Given the description of an element on the screen output the (x, y) to click on. 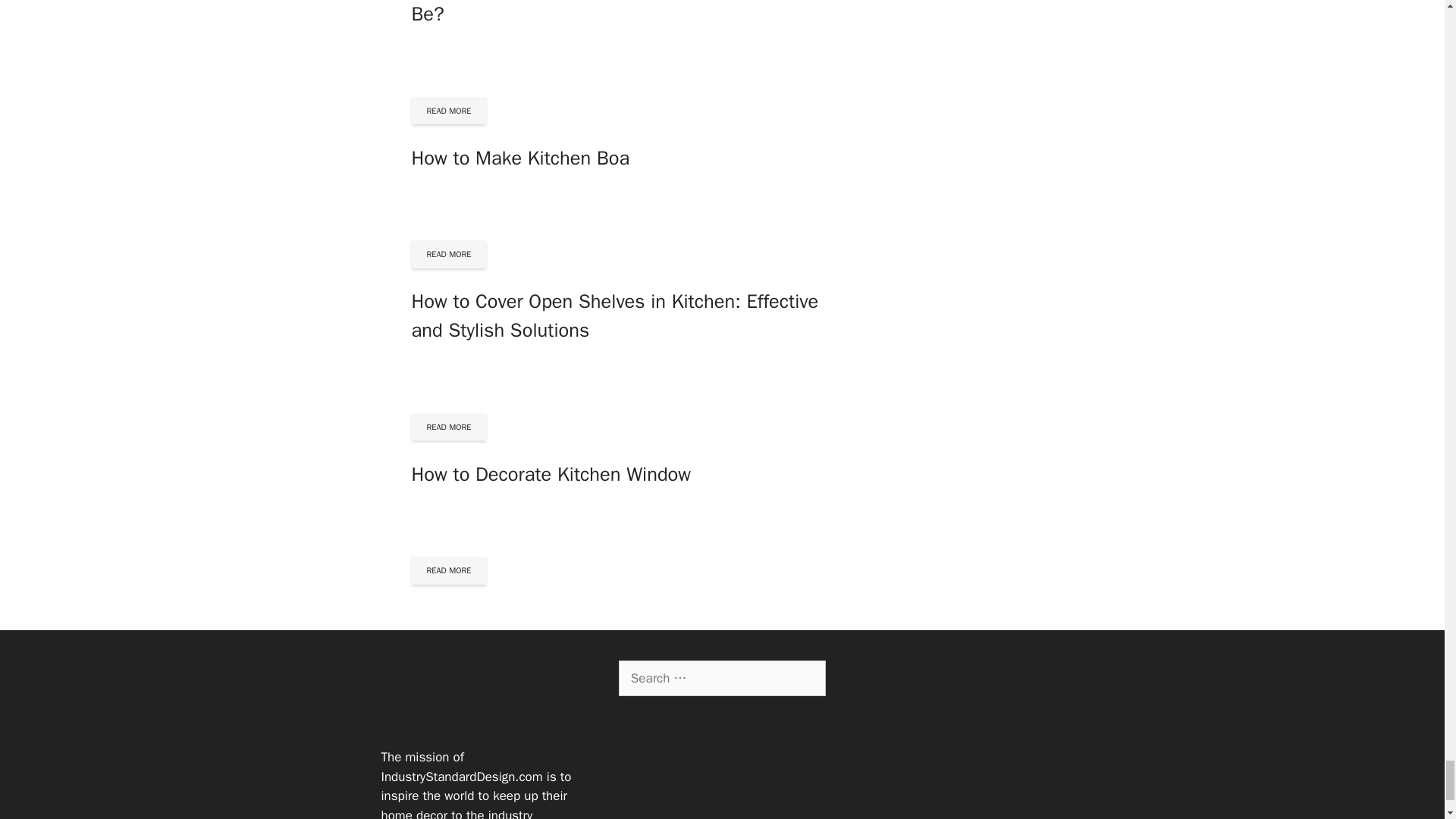
How to Decorate Kitchen Window (550, 473)
How to Make Kitchen Boa (519, 157)
Ultimate Guide: How Long Should Kitchen Curtains Be? (624, 13)
Ultimate Guide: How Long Should Kitchen Curtains Be? (624, 13)
Search for: (721, 678)
READ MORE (448, 111)
